Given the description of an element on the screen output the (x, y) to click on. 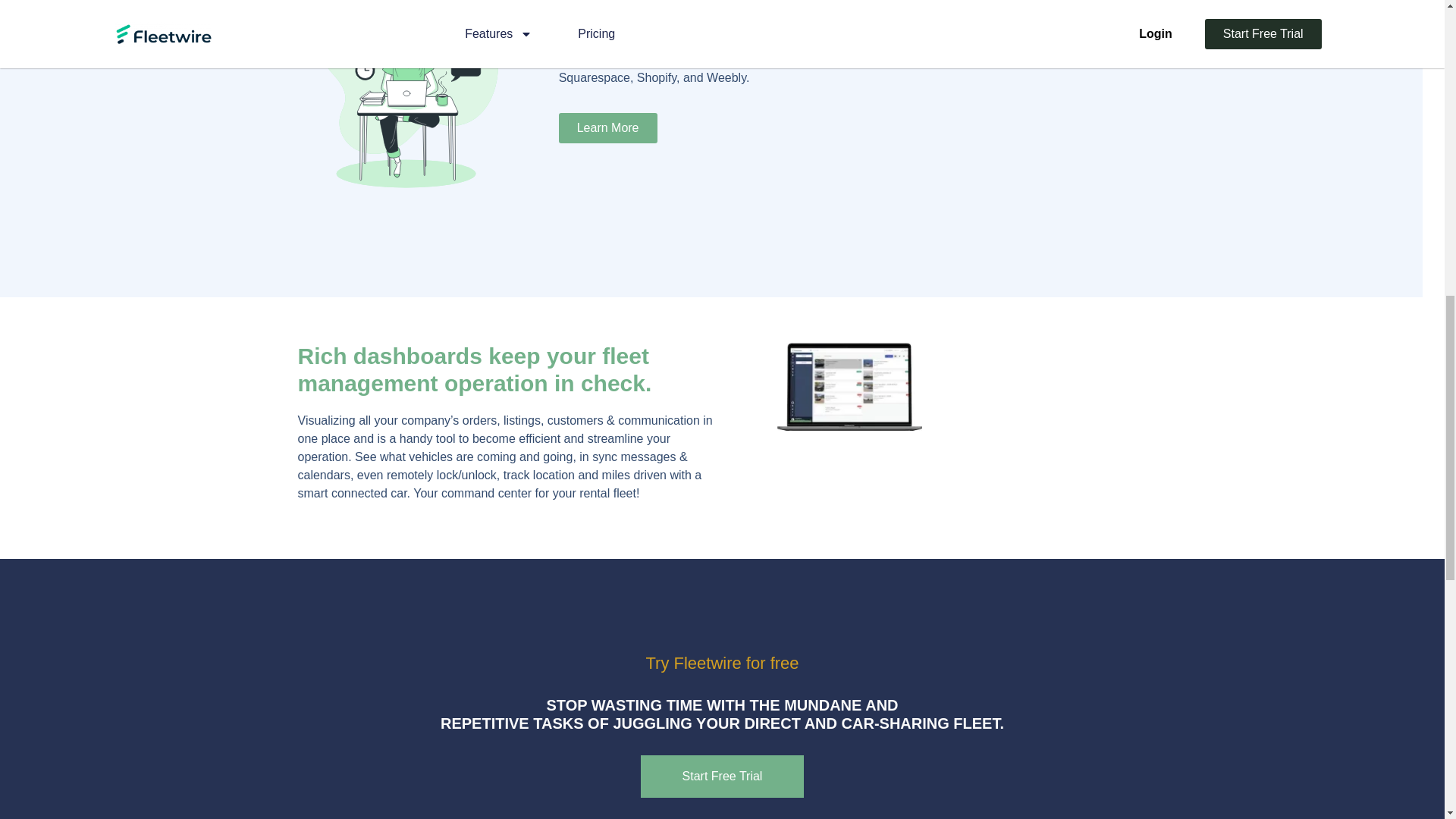
Start Free Trial (722, 776)
Learn More (608, 128)
